Given the description of an element on the screen output the (x, y) to click on. 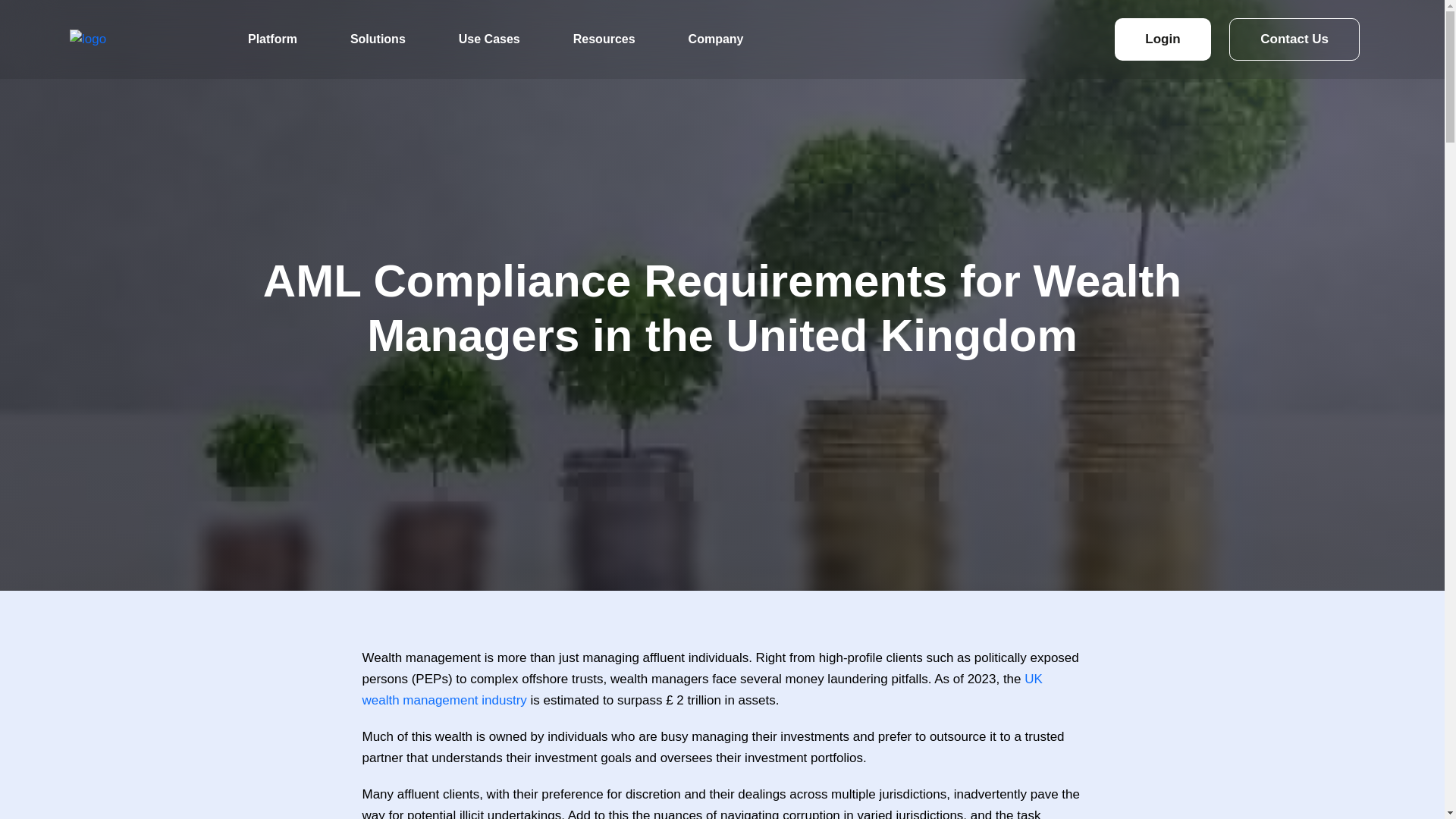
Platform (272, 39)
Solutions (377, 39)
Use Cases (489, 39)
